Given the description of an element on the screen output the (x, y) to click on. 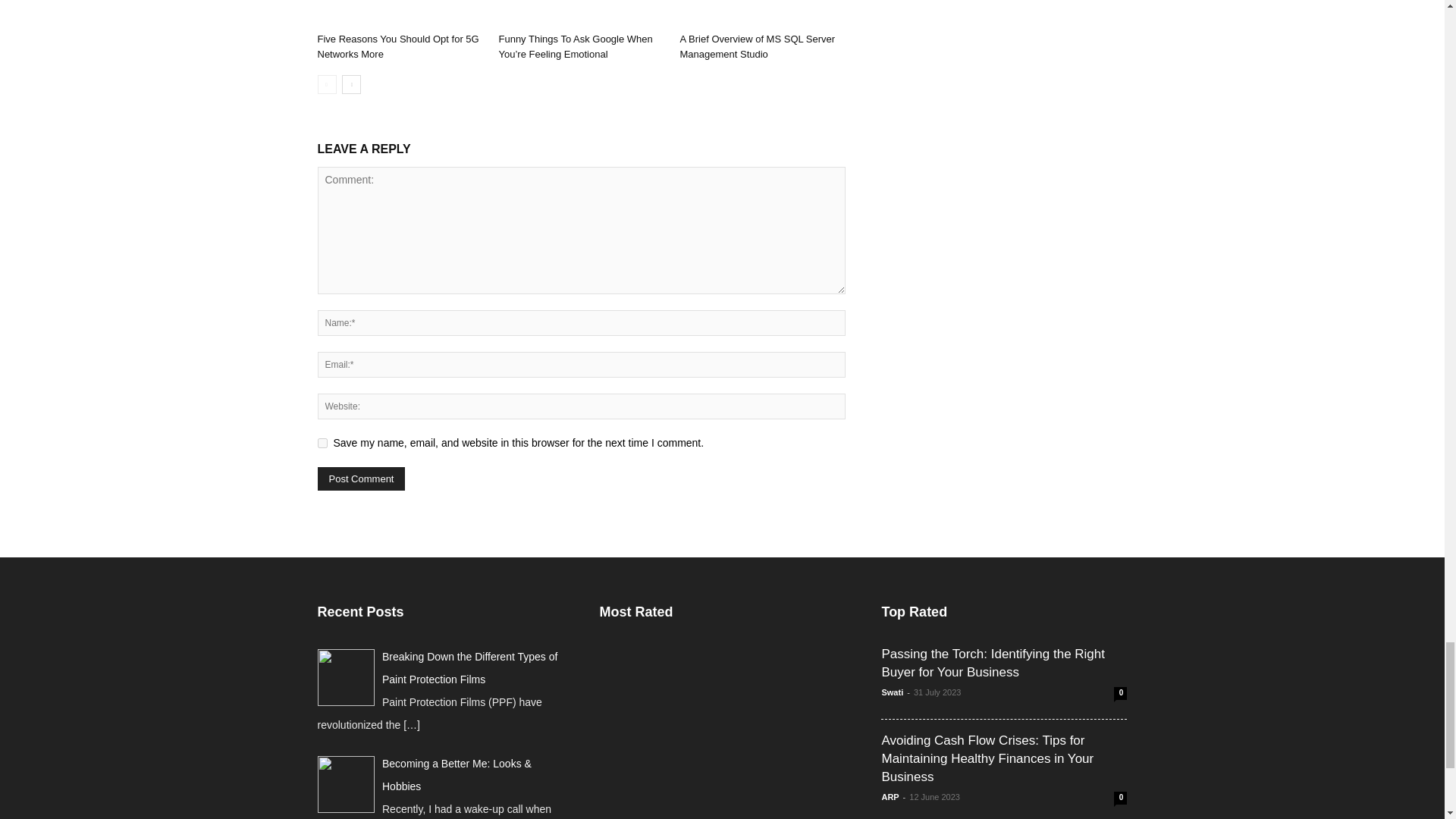
yes (321, 442)
Post Comment (360, 478)
